Given the description of an element on the screen output the (x, y) to click on. 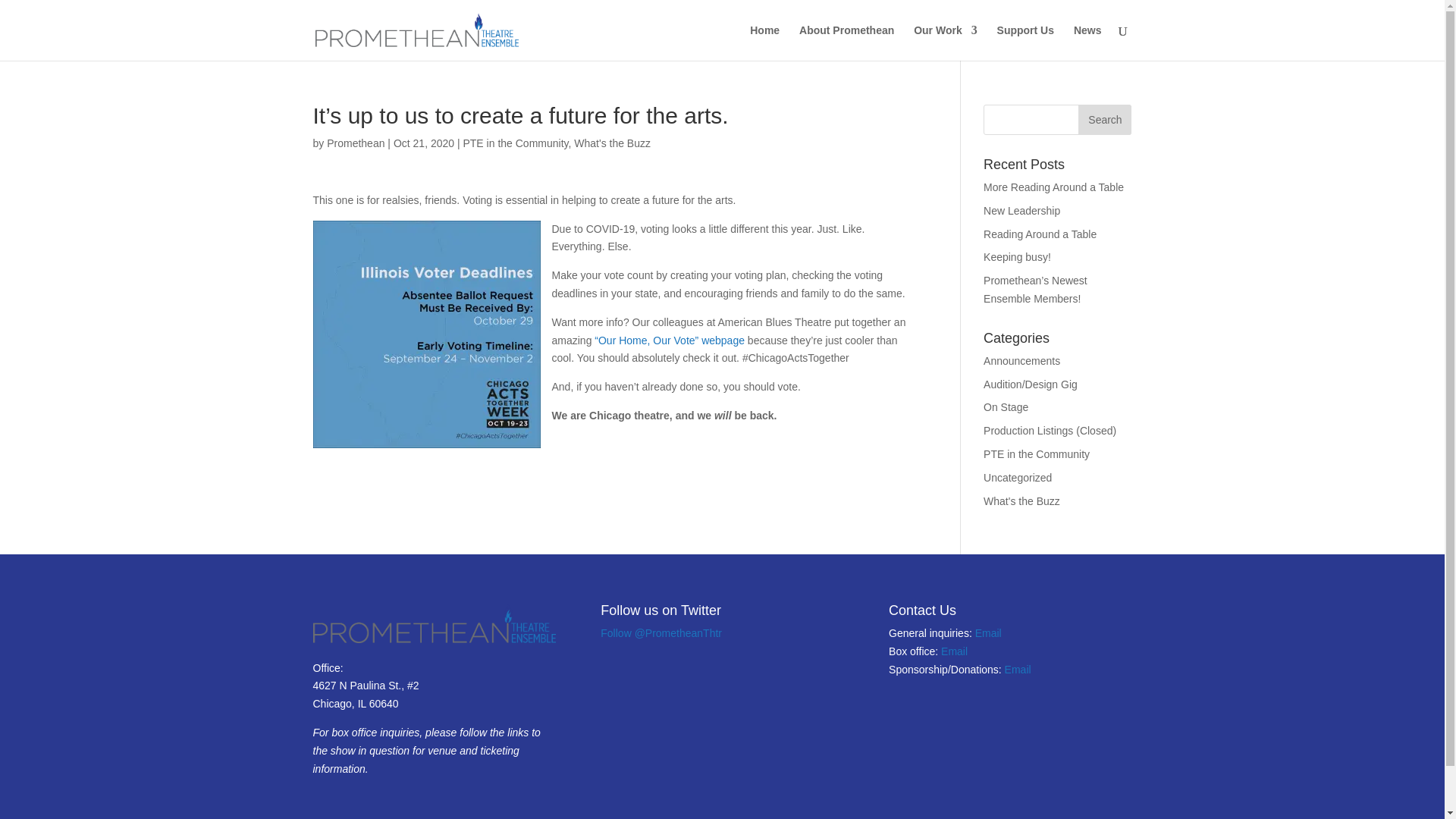
Search (1104, 119)
Email (954, 651)
Email (988, 633)
PTE in the Community (515, 143)
Support Us (1025, 42)
About Promethean (846, 42)
Our Work (945, 42)
Promethean (355, 143)
PTE in the Community (1036, 453)
Reading Around a Table (1040, 234)
